Given the description of an element on the screen output the (x, y) to click on. 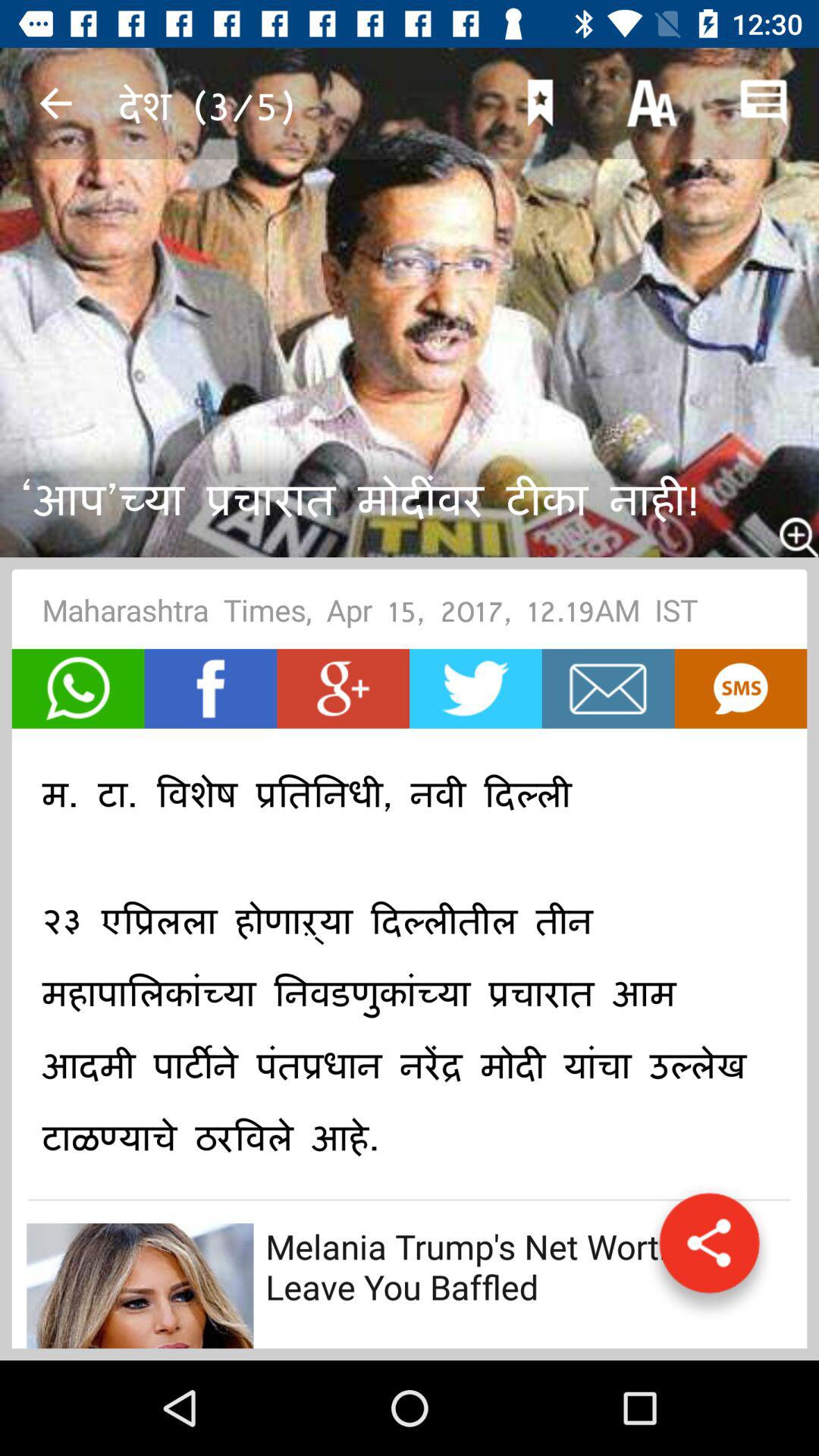
type the message bar (608, 688)
